Given the description of an element on the screen output the (x, y) to click on. 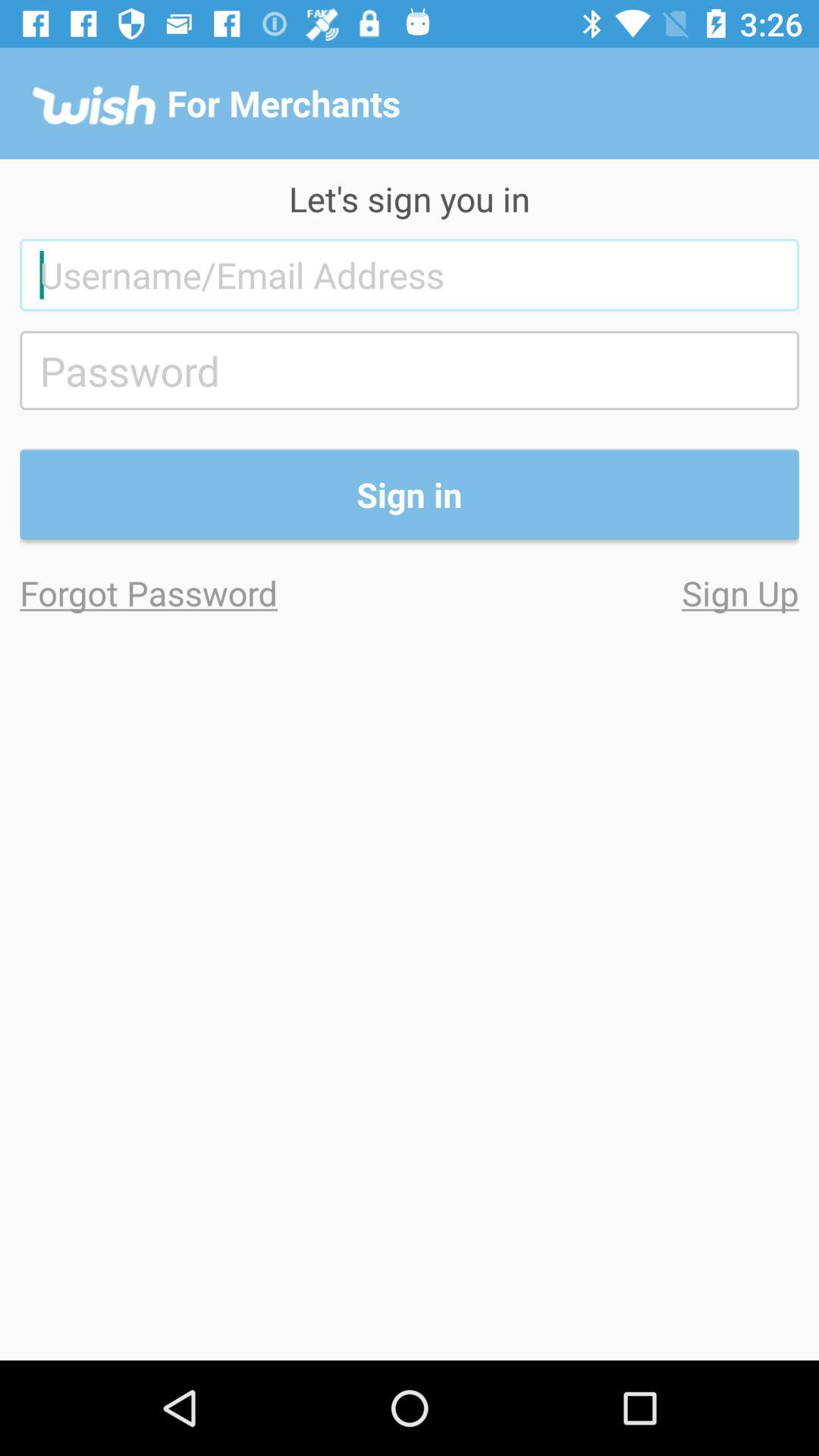
launch the item below the let s sign icon (409, 274)
